Given the description of an element on the screen output the (x, y) to click on. 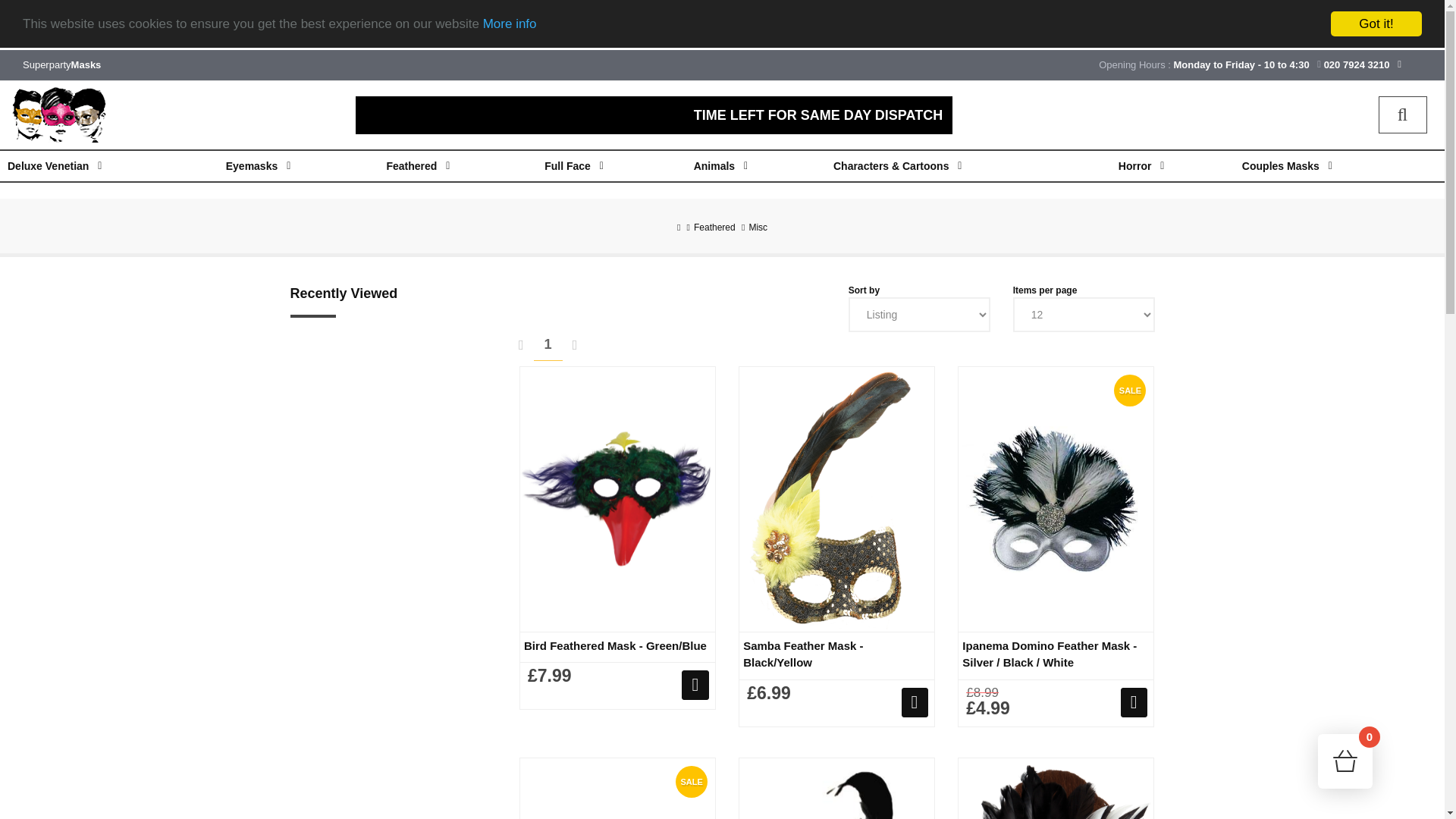
SuperpartyMasks (61, 50)
020 7924 3210 (1356, 54)
Full Face (574, 165)
Feathered (419, 165)
Got it! (1376, 2)
Eyemasks (258, 165)
More info (510, 2)
Deluxe Venetian (56, 165)
Animals (721, 165)
